Given the description of an element on the screen output the (x, y) to click on. 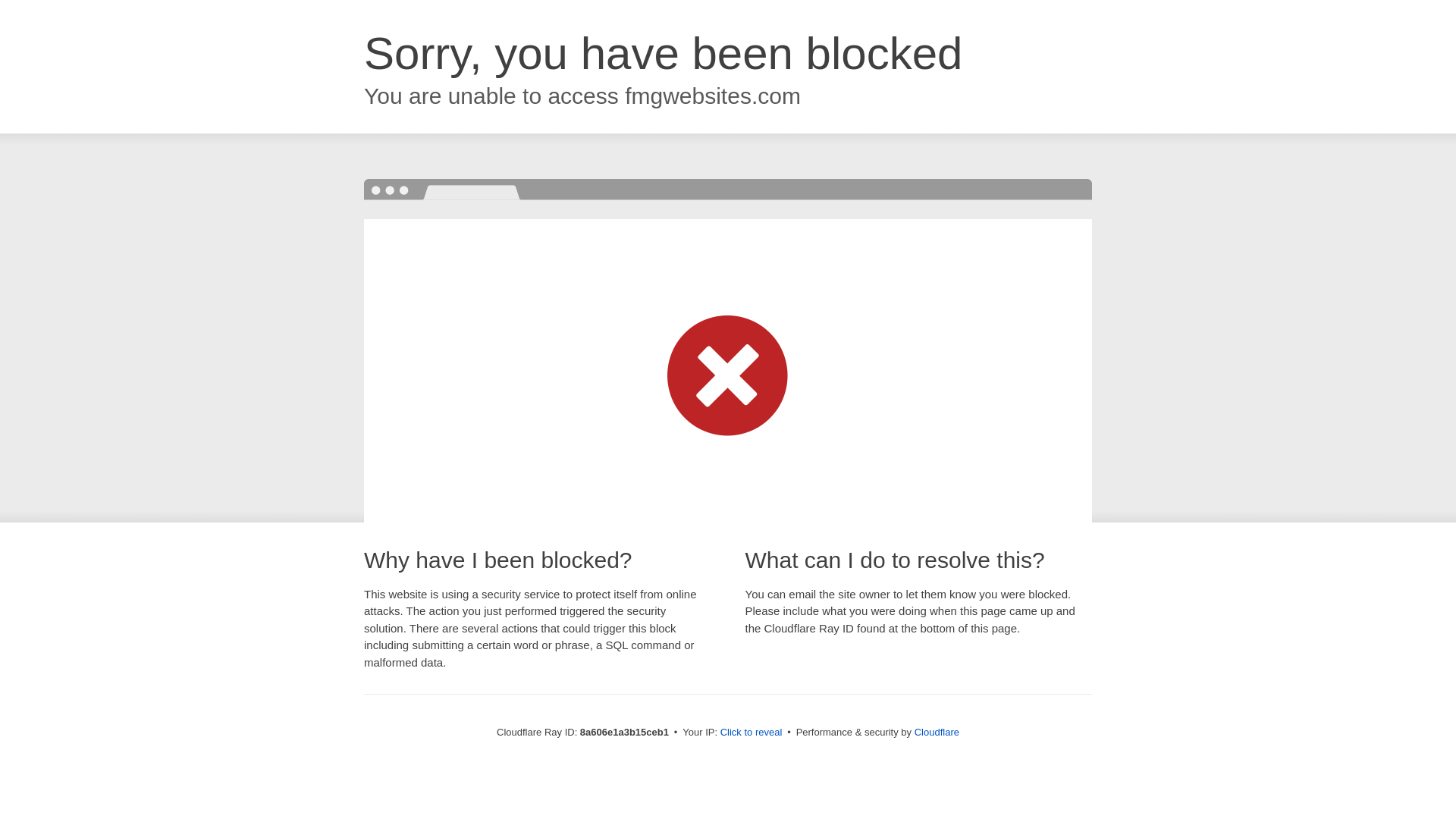
Cloudflare (936, 731)
Click to reveal (751, 732)
